Given the description of an element on the screen output the (x, y) to click on. 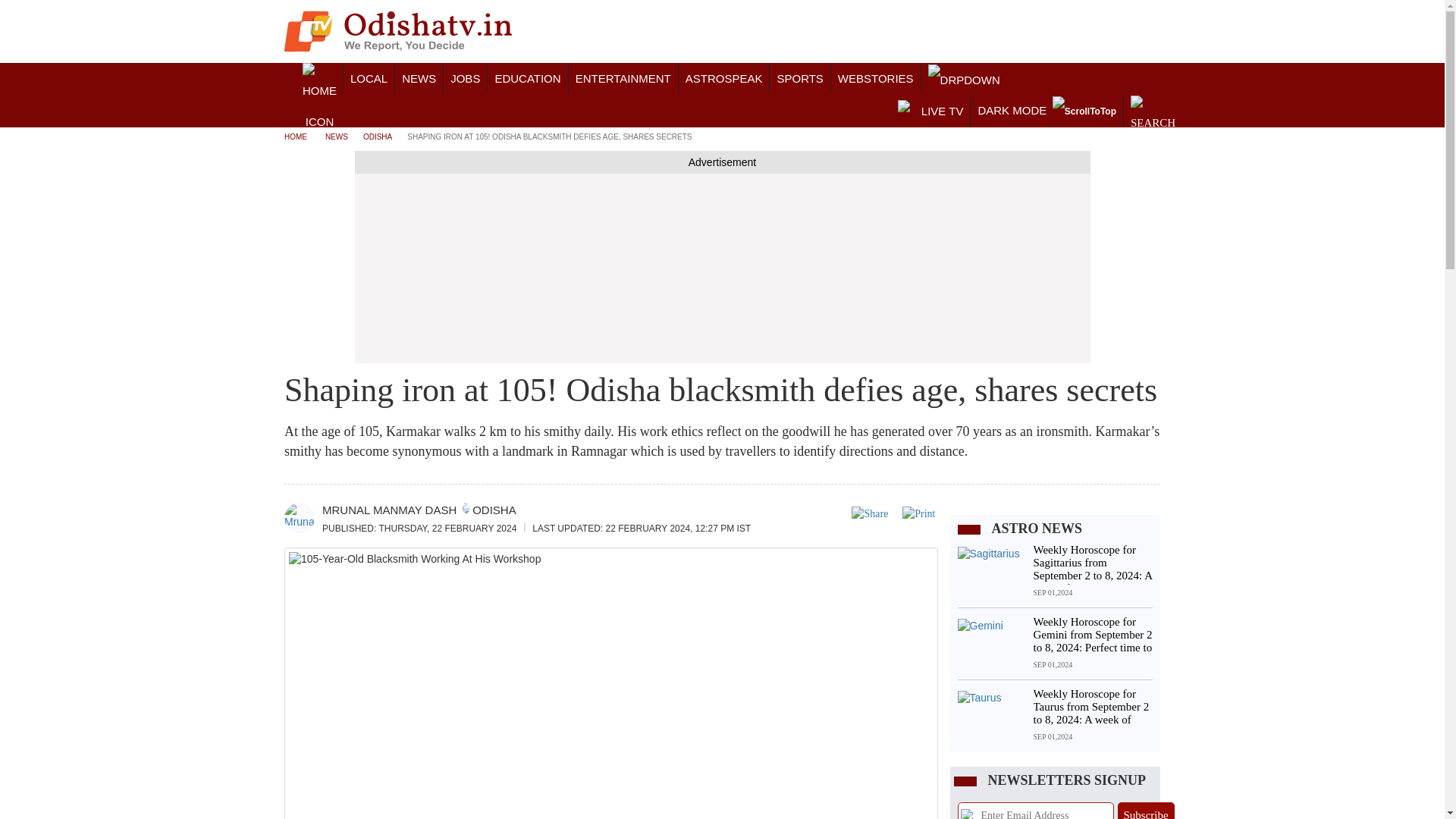
Instagram (1038, 33)
Twitter (1019, 33)
Facebook (1000, 33)
Koo (1097, 33)
News (418, 78)
Odisha (368, 78)
Telegram (1078, 33)
EDUCATION (527, 78)
ENTERTAINMENT (623, 78)
LOCAL (368, 78)
